Given the description of an element on the screen output the (x, y) to click on. 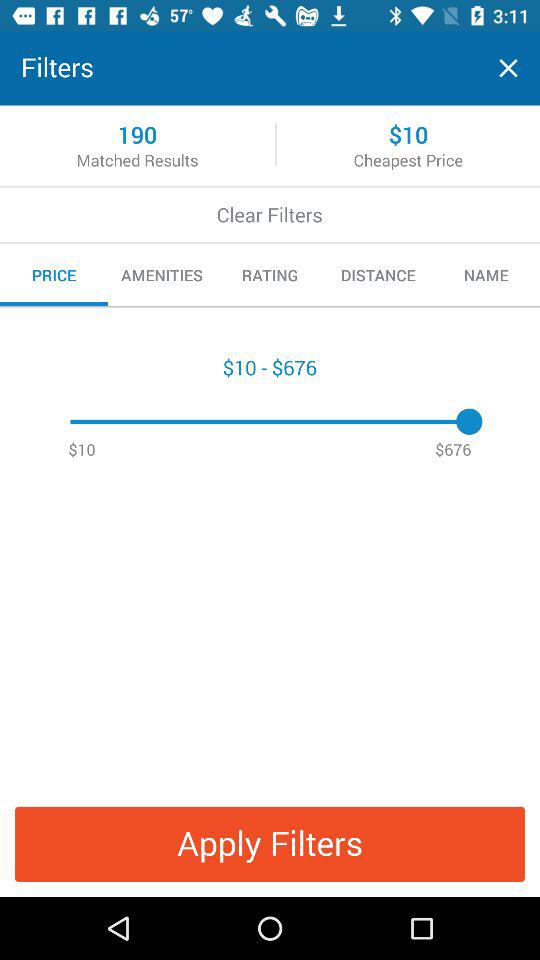
scroll until apply filters icon (269, 843)
